Given the description of an element on the screen output the (x, y) to click on. 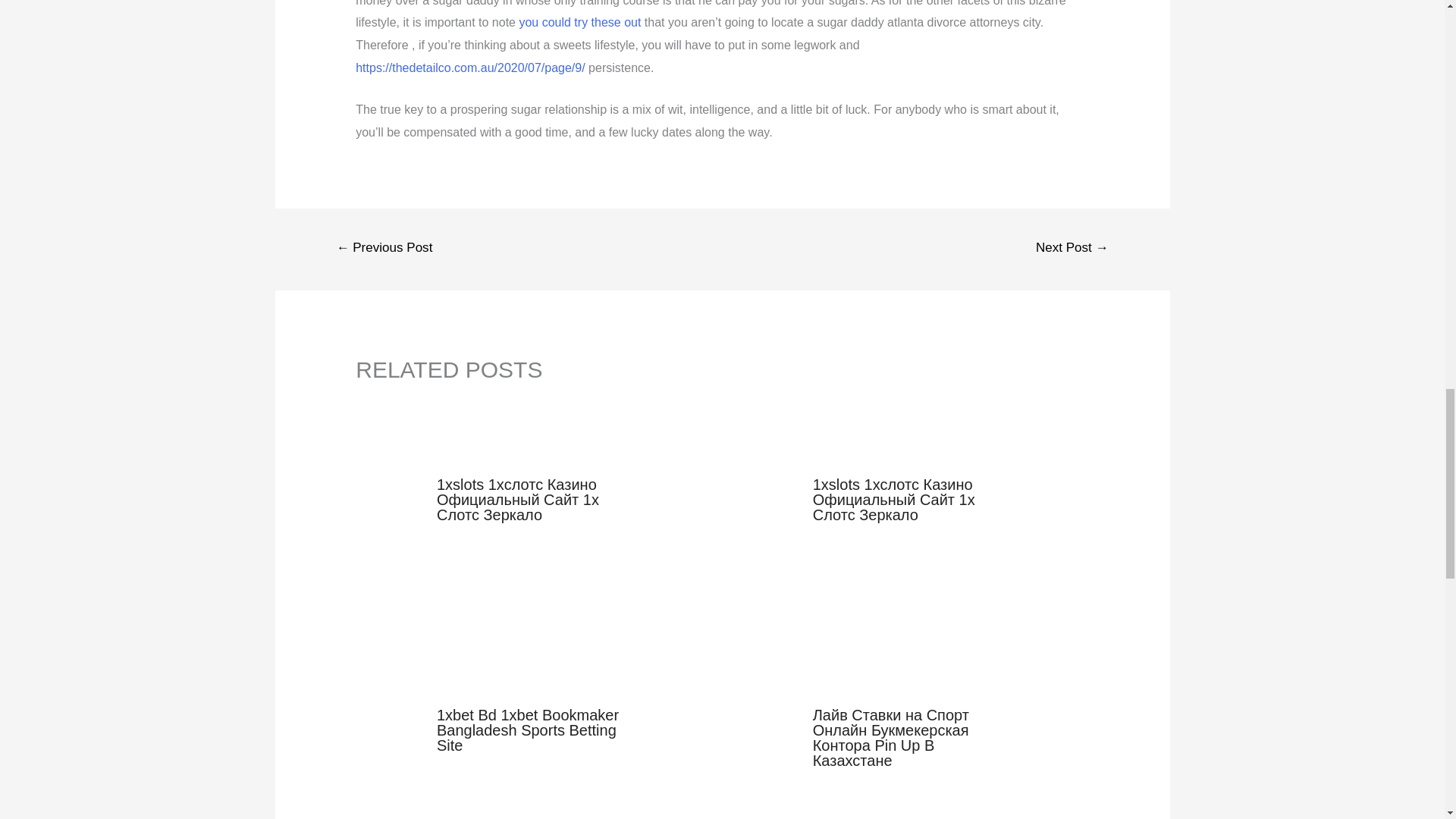
you could try these out (579, 21)
